Given the description of an element on the screen output the (x, y) to click on. 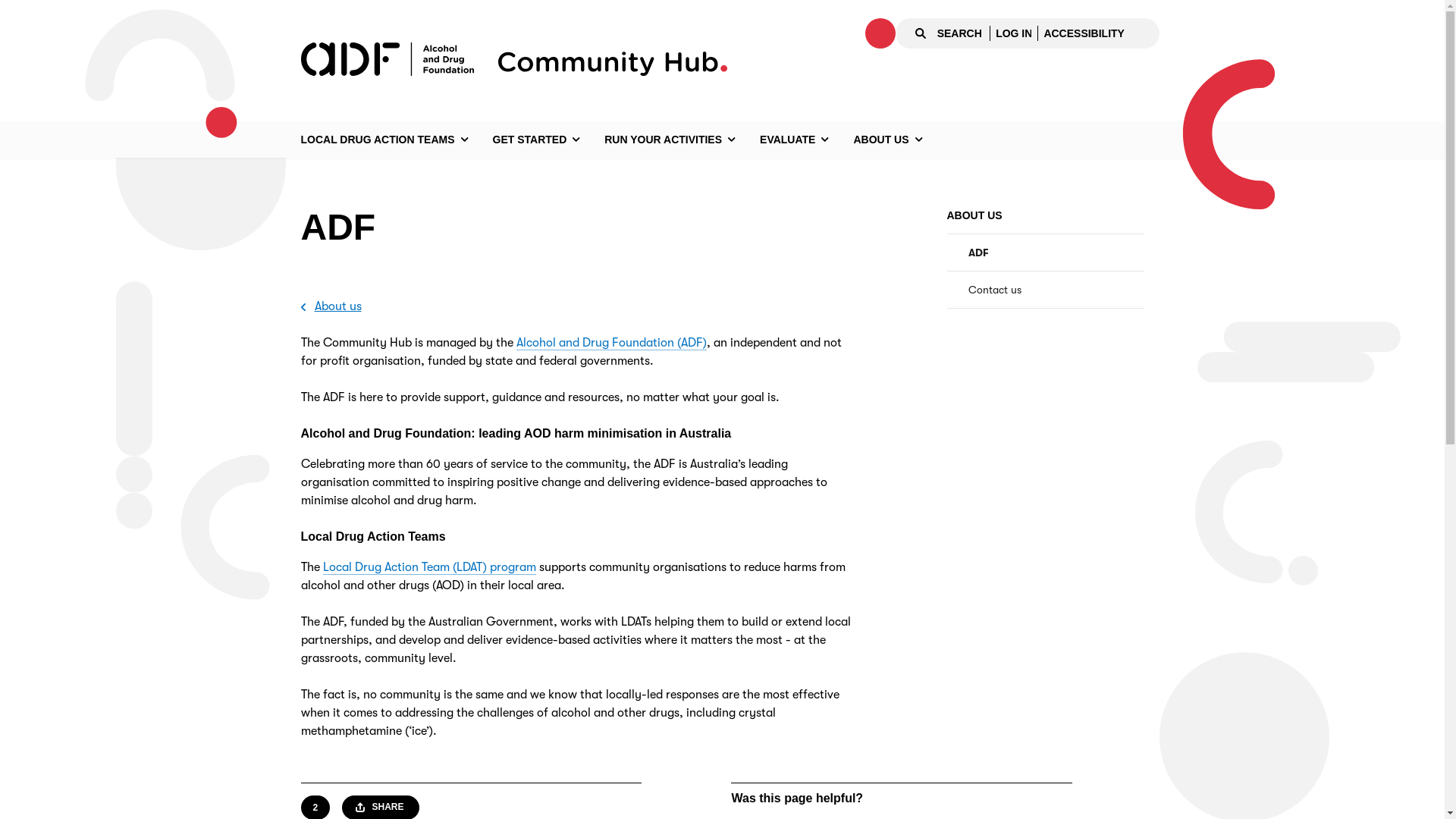
ACCESSIBILITY Element type: text (1083, 32)
ABOUT US Element type: text (887, 140)
LOG IN Element type: text (1013, 32)
RUN YOUR ACTIVITIES Element type: text (669, 140)
Alcohol and Drug Foundation (ADF) Element type: text (610, 342)
SEARCH Element type: text (945, 32)
ADF Element type: text (1044, 252)
Contact us Element type: text (1044, 289)
Local Drug Action Team (LDAT) program Element type: text (429, 567)
About us Element type: text (330, 306)
EVALUATE Element type: text (793, 140)
LOCAL DRUG ACTION TEAMS Element type: text (383, 140)
GET STARTED Element type: text (536, 140)
